Given the description of an element on the screen output the (x, y) to click on. 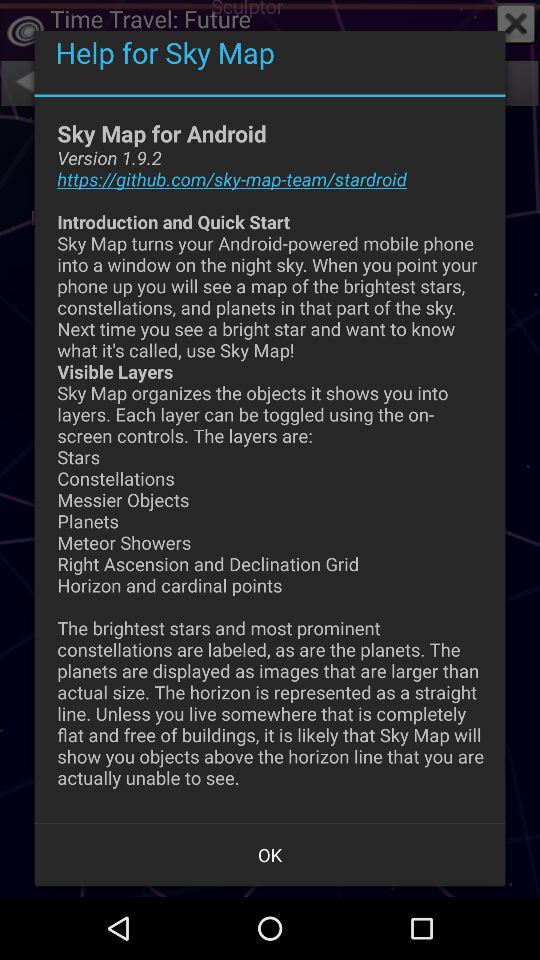
jump until the ok button (269, 854)
